Given the description of an element on the screen output the (x, y) to click on. 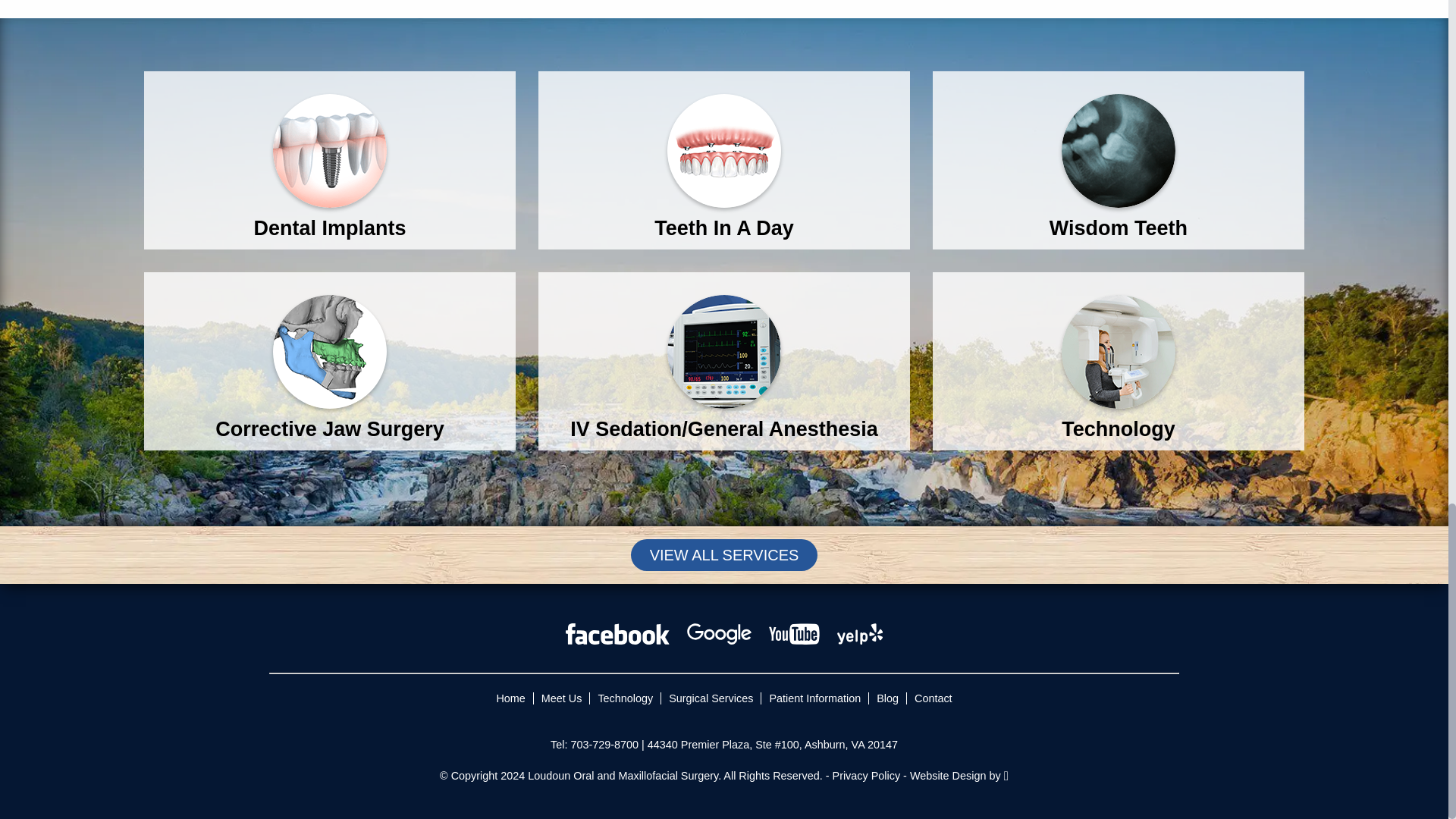
Google icon (719, 633)
YouTube icon (793, 633)
Yelp icon (859, 633)
Facebook icon (617, 633)
